Given the description of an element on the screen output the (x, y) to click on. 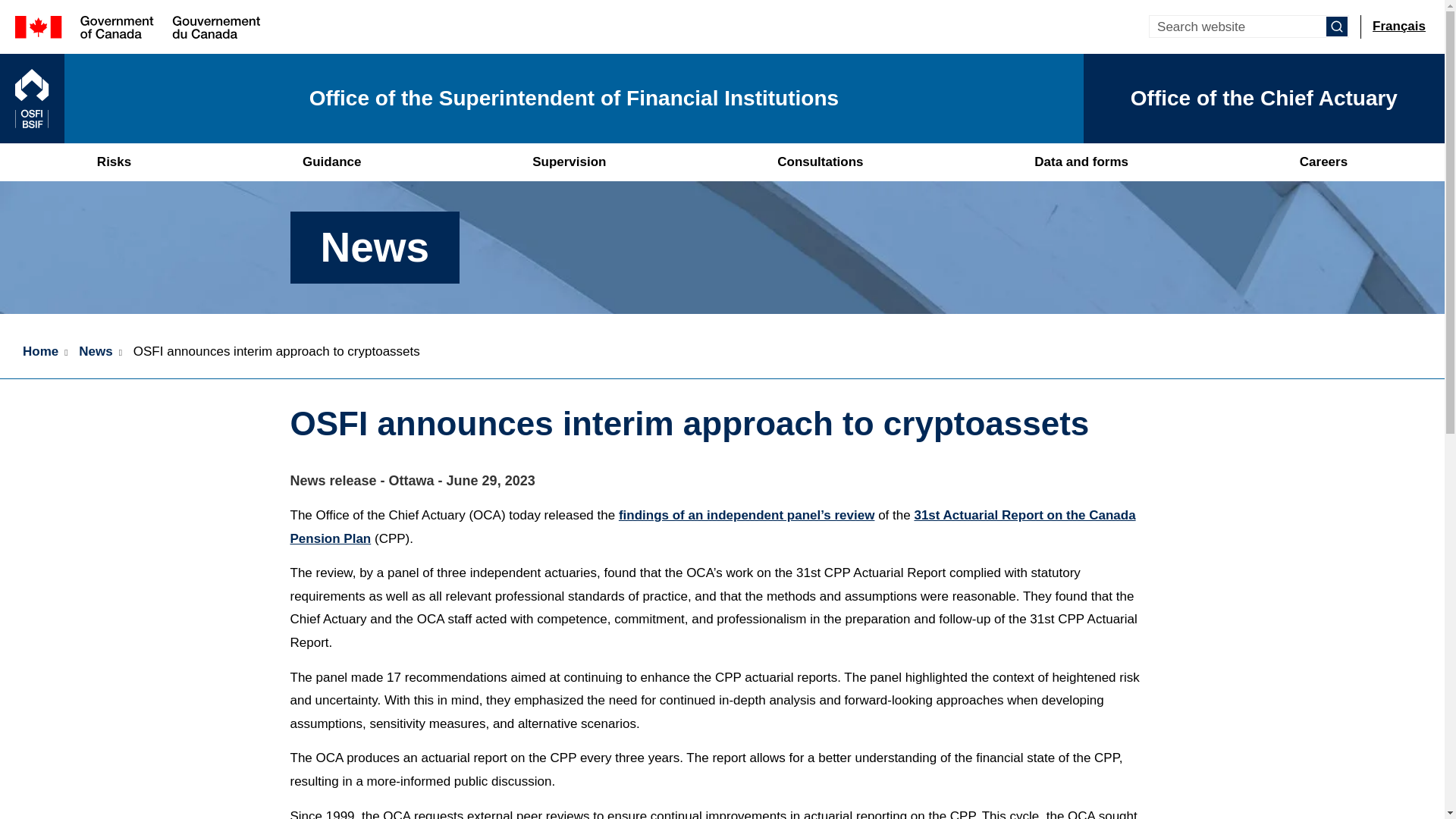
Supervision (568, 161)
Data and forms (1080, 161)
Data and forms (1080, 161)
31st Actuarial Report on the Canada Pension Plan (712, 526)
Risks (113, 161)
Guidance (331, 161)
News (97, 351)
Guidance (331, 161)
News (97, 351)
Consultations (820, 161)
Home (39, 351)
Risks (113, 161)
Skip to main content (725, 11)
Home (541, 98)
Careers (1323, 161)
